Given the description of an element on the screen output the (x, y) to click on. 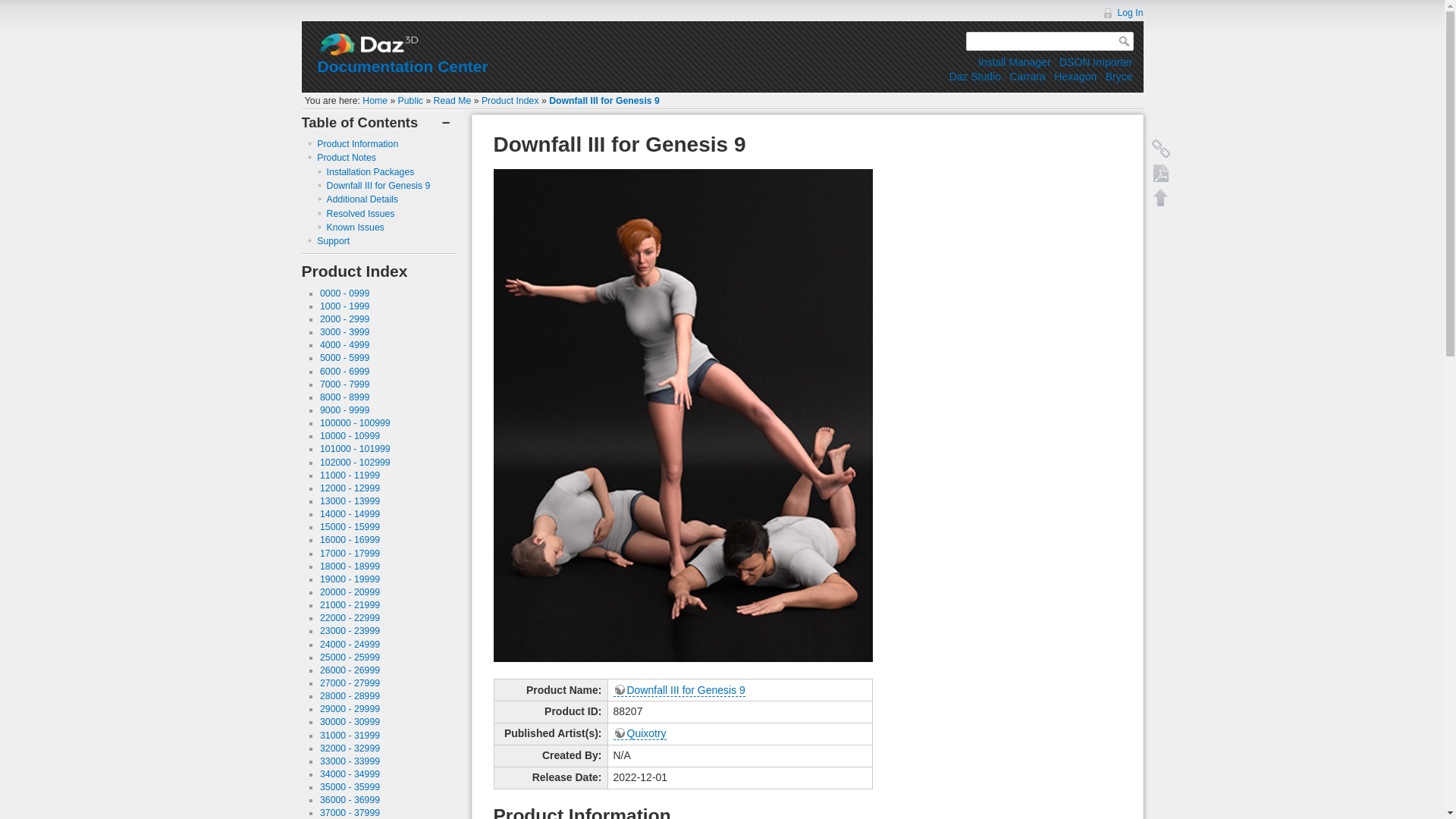
start (374, 100)
Log In (1122, 12)
Documentation Center (402, 66)
Installation Packages (370, 172)
Log In (1122, 12)
Hexagon (1075, 76)
11000 - 11999 (350, 475)
Install Manager (1014, 61)
0000 - 0999 (344, 293)
Home (374, 100)
